Given the description of an element on the screen output the (x, y) to click on. 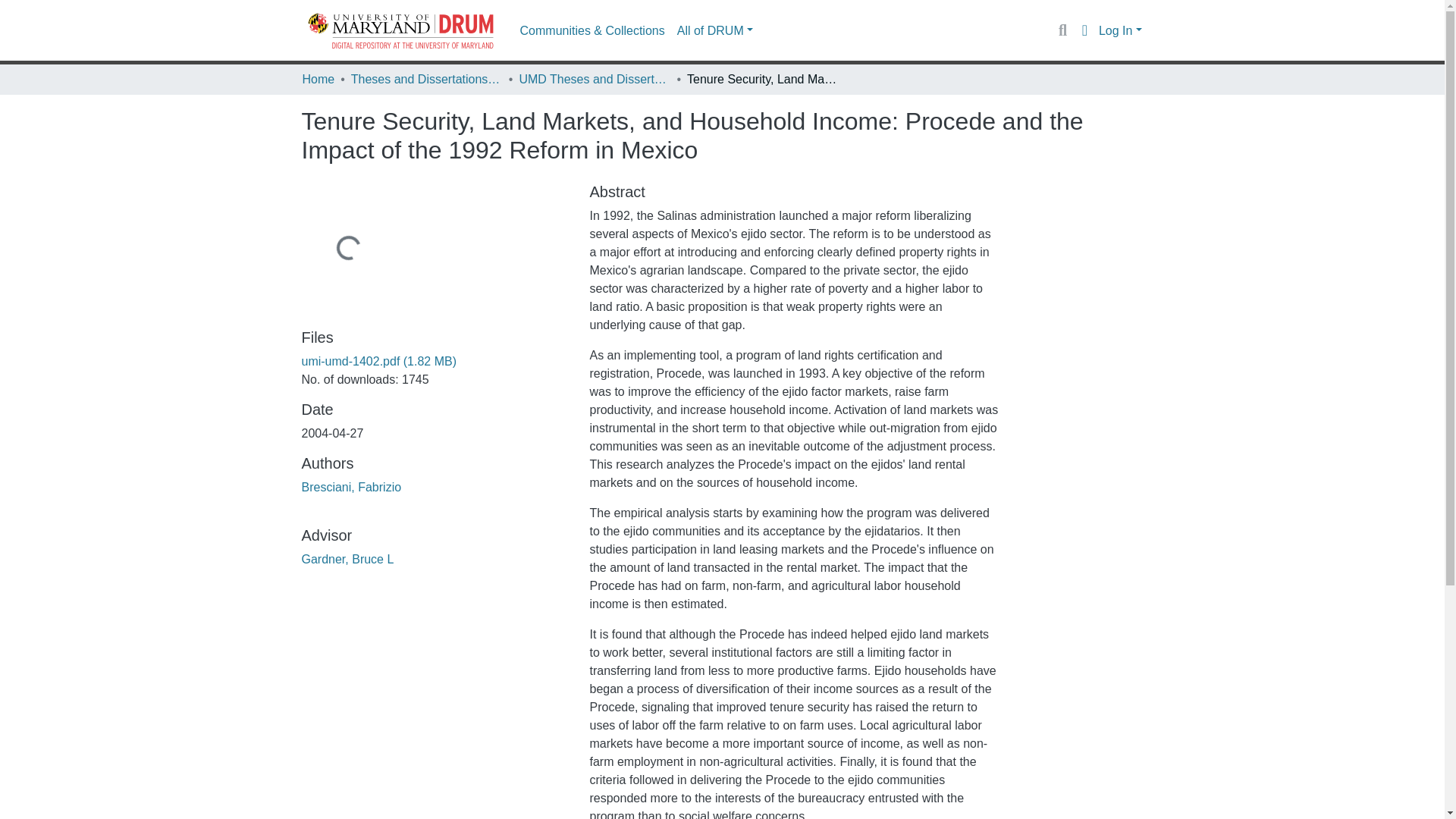
Gardner, Bruce L (347, 558)
Search (1061, 30)
Language switch (1084, 30)
Theses and Dissertations from UMD (426, 79)
Log In (1119, 30)
UMD Theses and Dissertations (593, 79)
Home (317, 79)
All of DRUM (714, 30)
Bresciani, Fabrizio (351, 486)
